Given the description of an element on the screen output the (x, y) to click on. 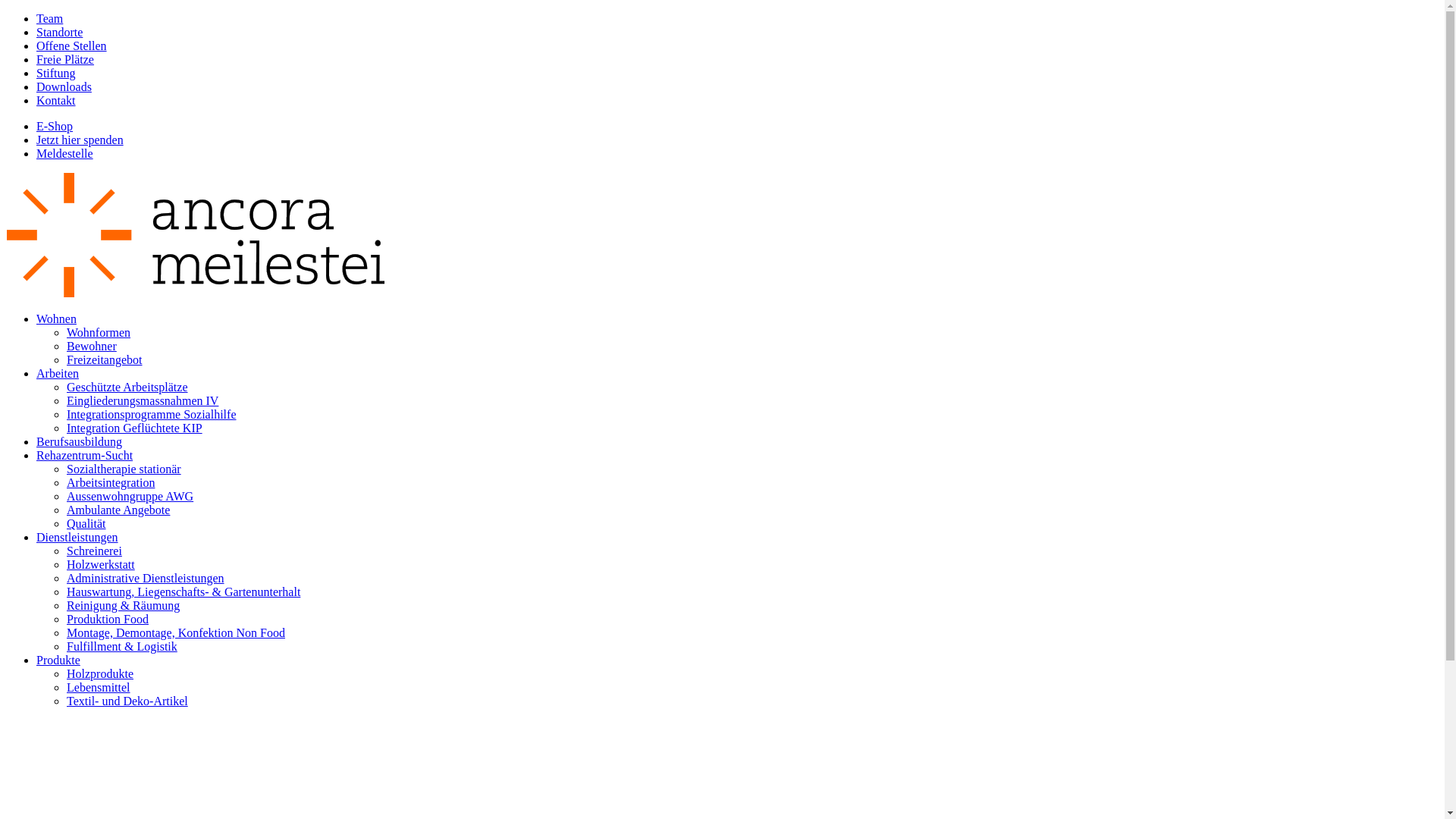
Fulfillment & Logistik Element type: text (121, 646)
Downloads Element type: text (63, 86)
Aussenwohngruppe AWG Element type: text (129, 495)
Arbeitsintegration Element type: text (110, 482)
Wohnen Element type: text (56, 318)
Textil- und Deko-Artikel Element type: text (127, 700)
Produkte Element type: text (58, 659)
Bewohner Element type: text (91, 345)
Team Element type: text (49, 18)
Hauswartung, Liegenschafts- & Gartenunterhalt Element type: text (183, 591)
Arbeiten Element type: text (57, 373)
E-Shop Element type: text (54, 125)
Offene Stellen Element type: text (71, 45)
Ambulante Angebote Element type: text (117, 509)
Holzwerkstatt Element type: text (100, 564)
Stiftung Element type: text (55, 72)
Jetzt hier spenden Element type: text (79, 139)
Produktion Food Element type: text (107, 618)
Berufsausbildung Element type: text (79, 441)
Integrationsprogramme Sozialhilfe Element type: text (150, 413)
Administrative Dienstleistungen Element type: text (145, 577)
Holzprodukte Element type: text (99, 673)
Freizeitangebot Element type: text (104, 359)
Lebensmittel Element type: text (98, 686)
Rehazentrum-Sucht Element type: text (84, 454)
Montage, Demontage, Konfektion Non Food Element type: text (175, 632)
Dienstleistungen Element type: text (77, 536)
Wohnformen Element type: text (98, 332)
Eingliederungsmassnahmen IV Element type: text (142, 400)
Standorte Element type: text (59, 31)
Meldestelle Element type: text (64, 153)
Schreinerei Element type: text (94, 550)
Kontakt Element type: text (55, 100)
